Given the description of an element on the screen output the (x, y) to click on. 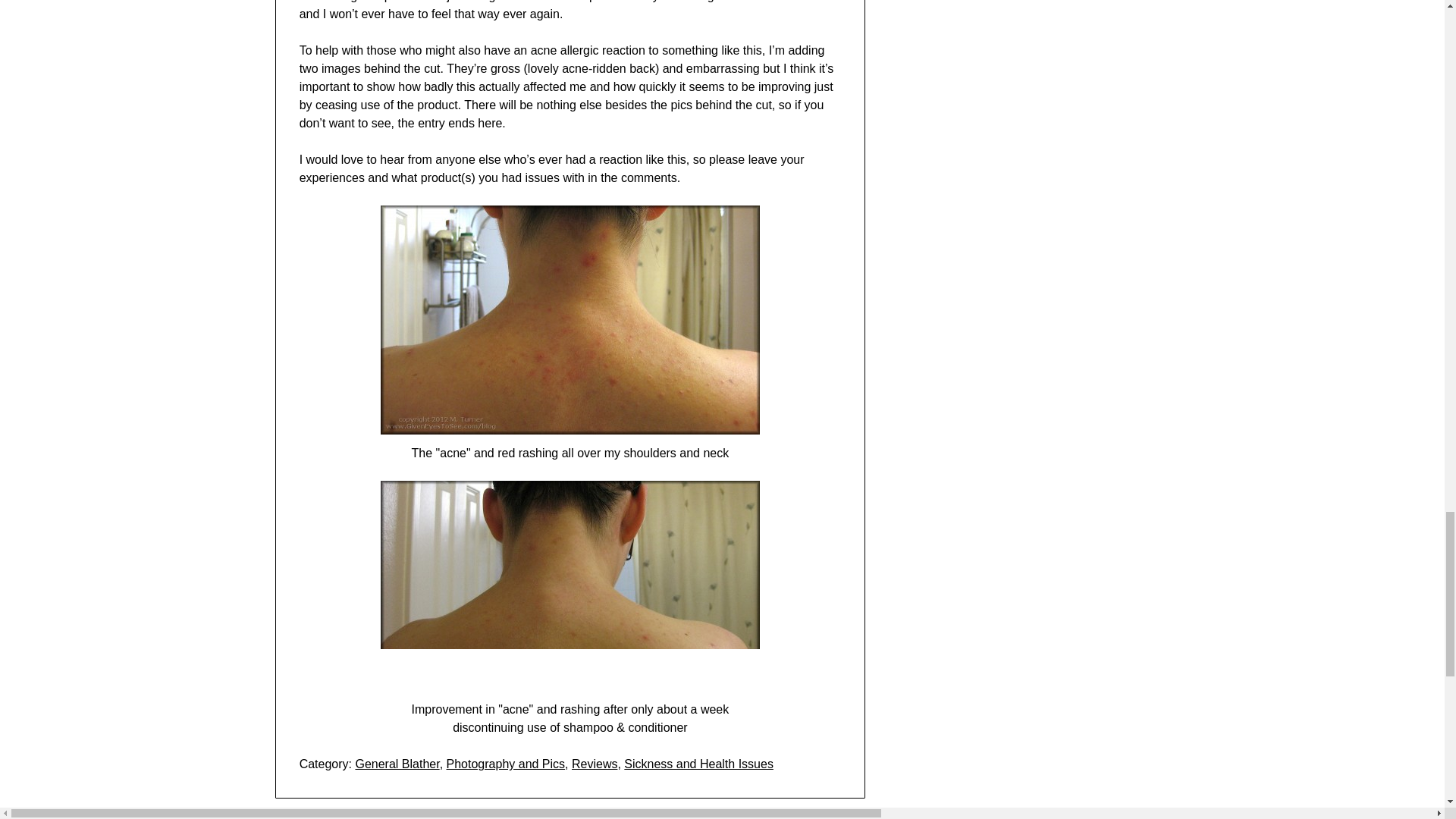
Photography and Pics (506, 763)
Sickness and Health Issues (698, 763)
shampoo-acne2a (570, 585)
Reviews (594, 763)
shampoo-acne1a (570, 319)
General Blather (397, 763)
